Given the description of an element on the screen output the (x, y) to click on. 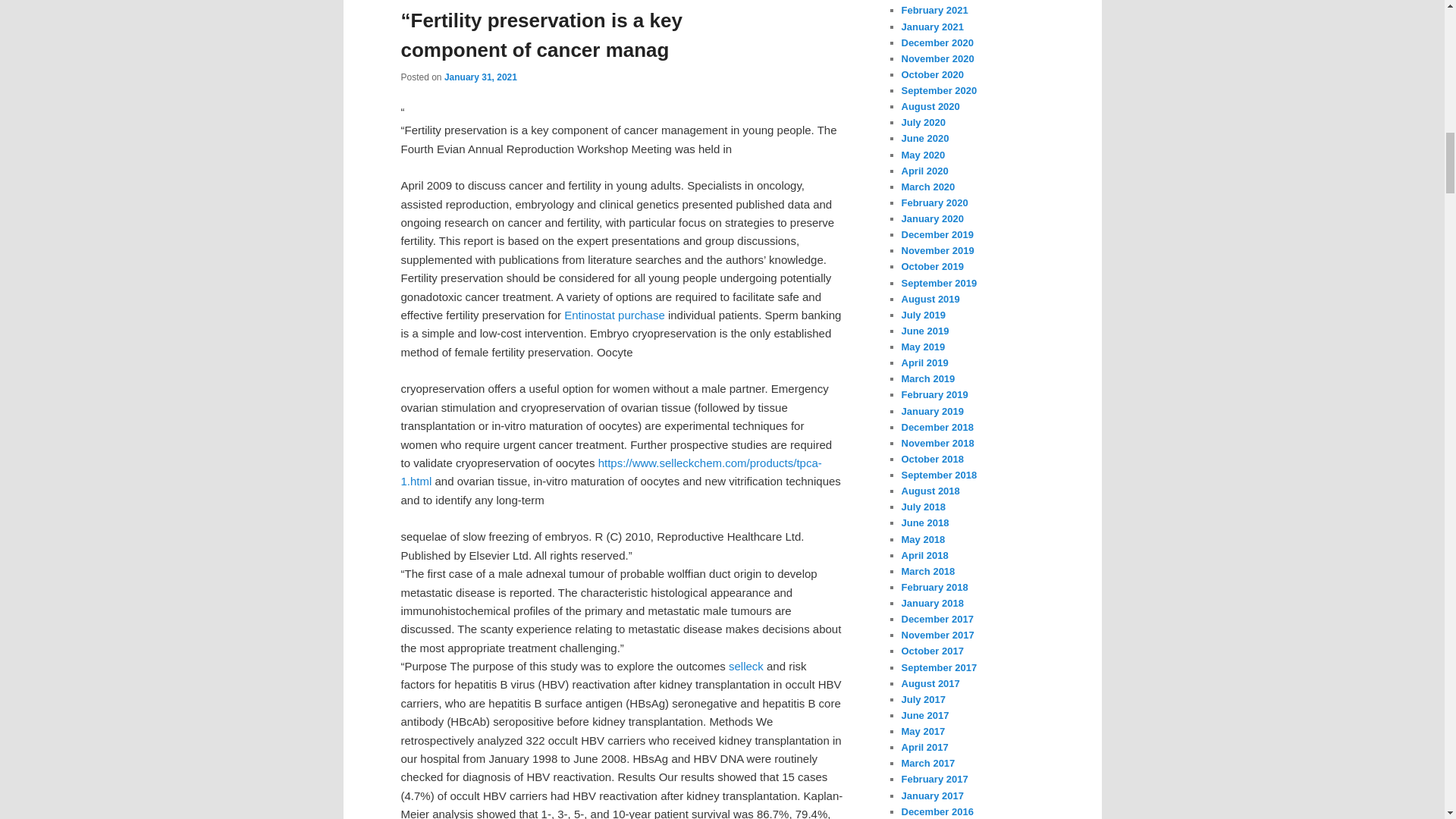
January 31, 2021 (480, 77)
selleck (745, 666)
Entinostat purchase (614, 314)
2:05 am (480, 77)
